Given the description of an element on the screen output the (x, y) to click on. 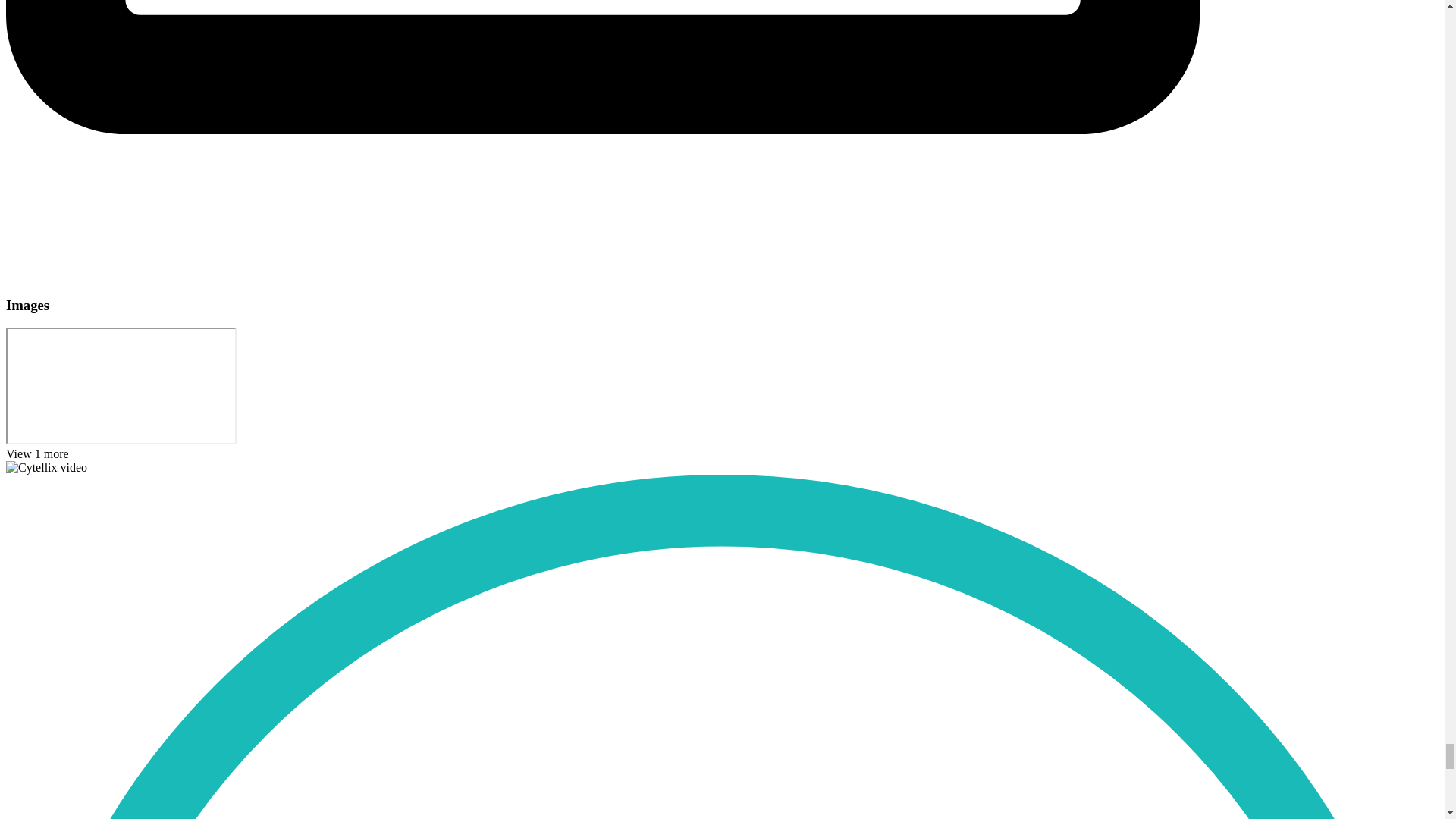
youtube video (120, 385)
